Given the description of an element on the screen output the (x, y) to click on. 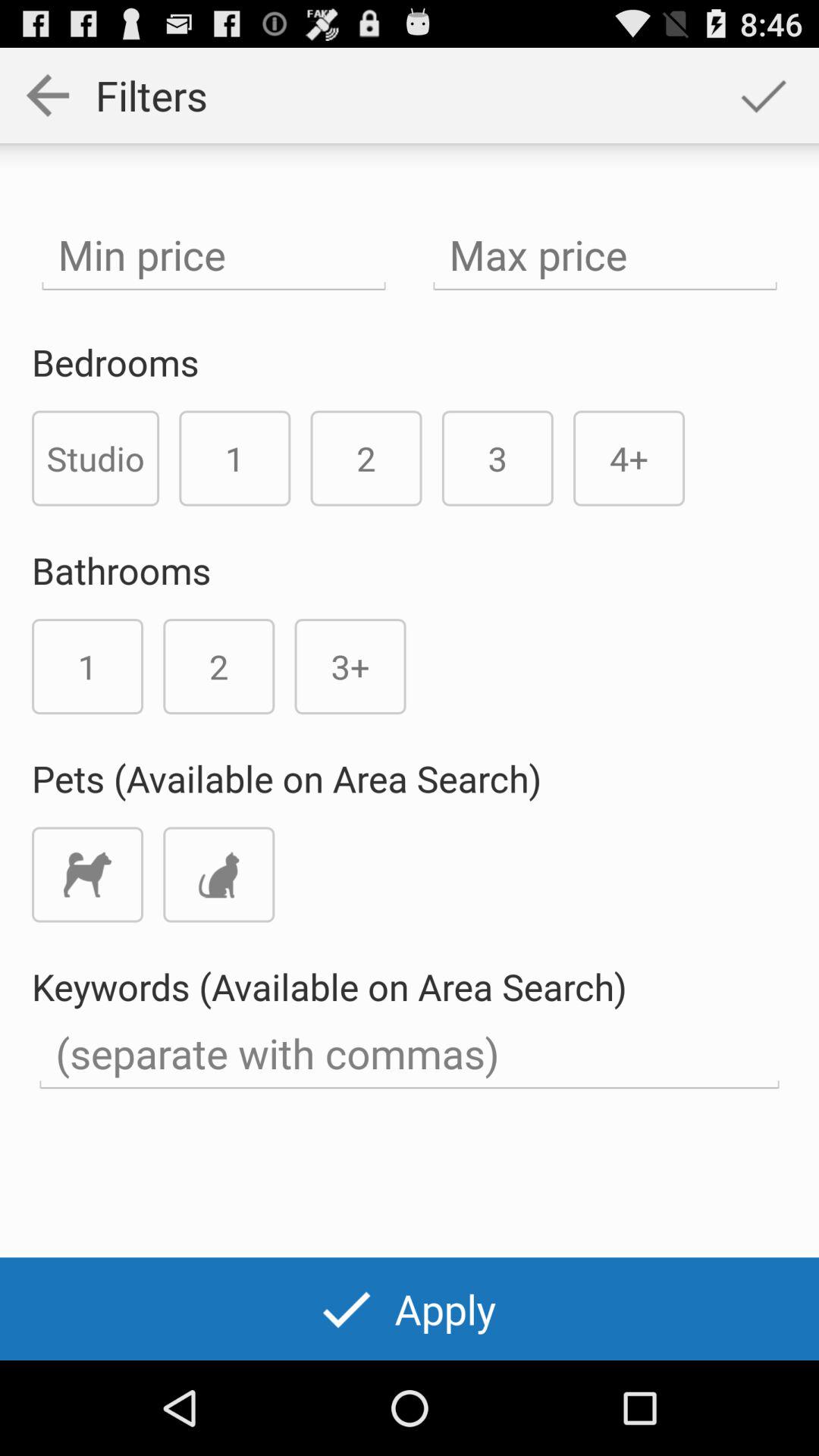
swipe until studio (95, 458)
